Given the description of an element on the screen output the (x, y) to click on. 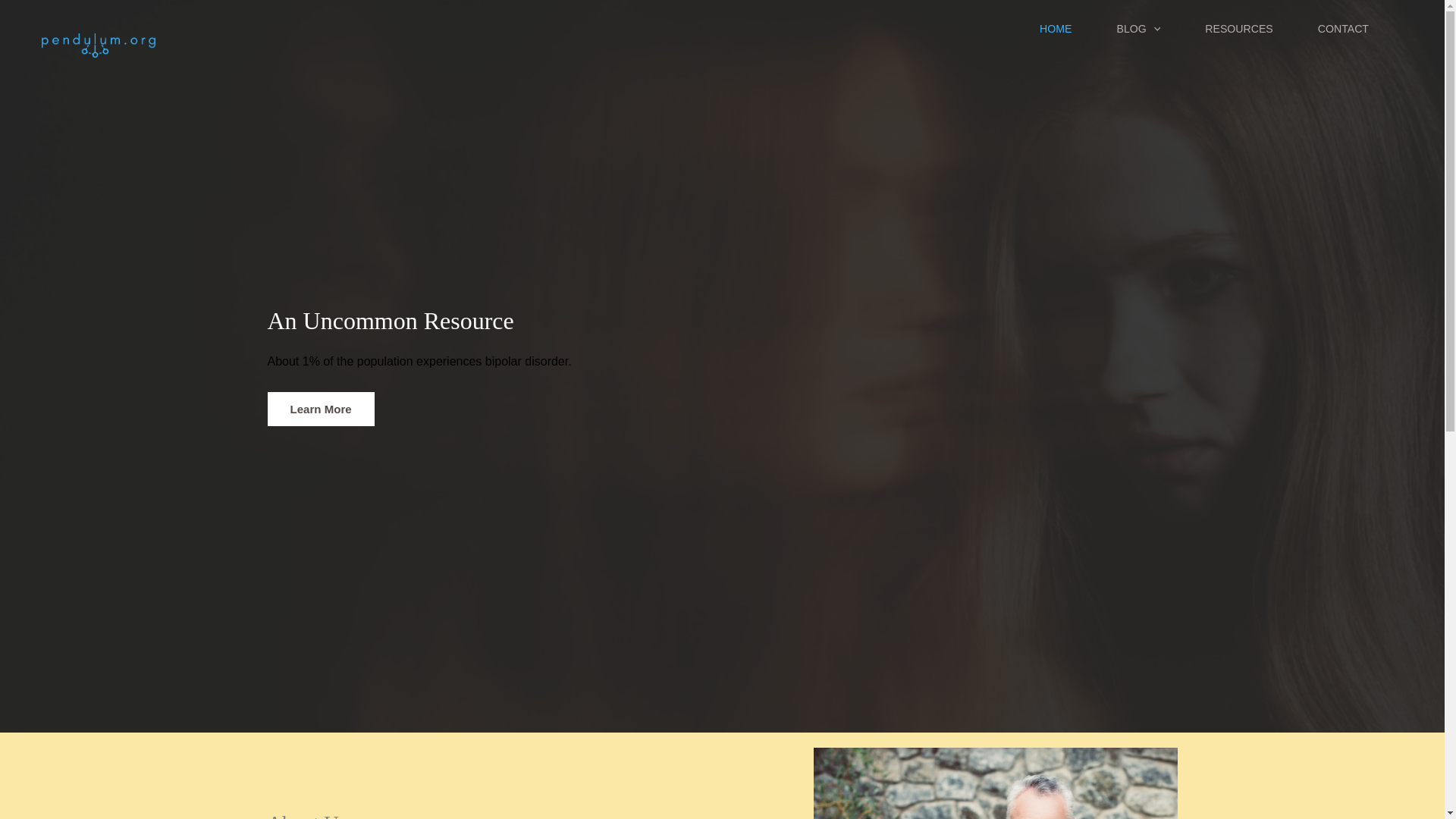
CONTACT (1355, 37)
RESOURCES (1250, 37)
HOME (1067, 37)
Learn More (320, 408)
BLOG (1149, 37)
